Given the description of an element on the screen output the (x, y) to click on. 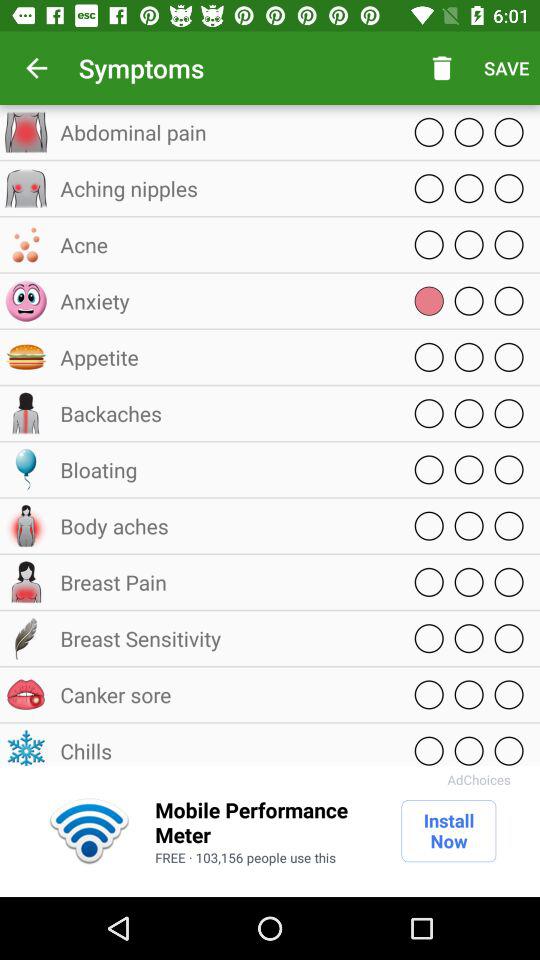
select icon next to the abdominal pain item (441, 67)
